Given the description of an element on the screen output the (x, y) to click on. 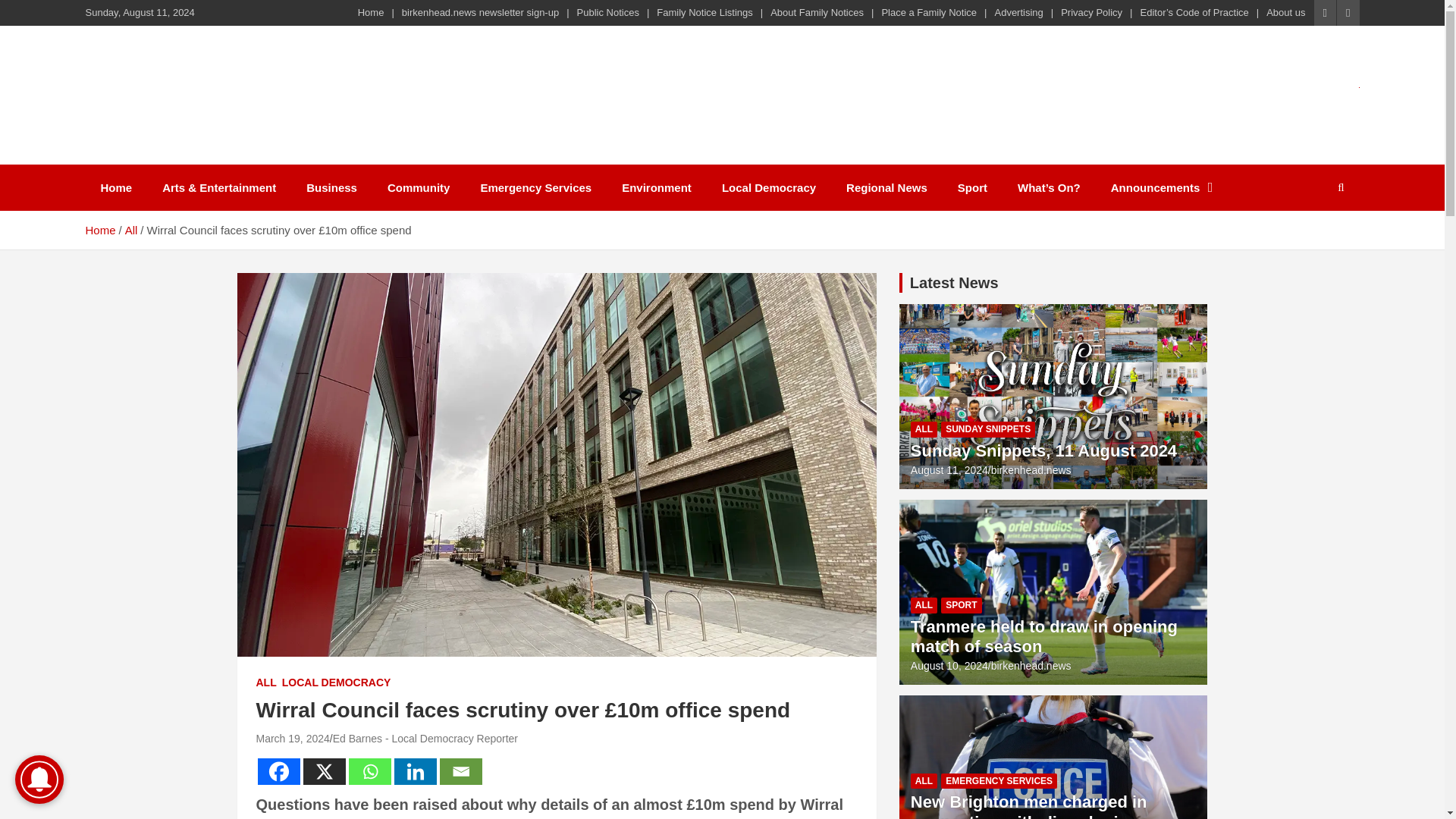
X (324, 771)
Facebook (278, 771)
LOCAL DEMOCRACY (336, 683)
Email (460, 771)
Announcements (1162, 187)
Sport (972, 187)
March 19, 2024 (293, 738)
Ed Barnes - Local Democracy Reporter (425, 738)
Home (99, 229)
Community (418, 187)
